Given the description of an element on the screen output the (x, y) to click on. 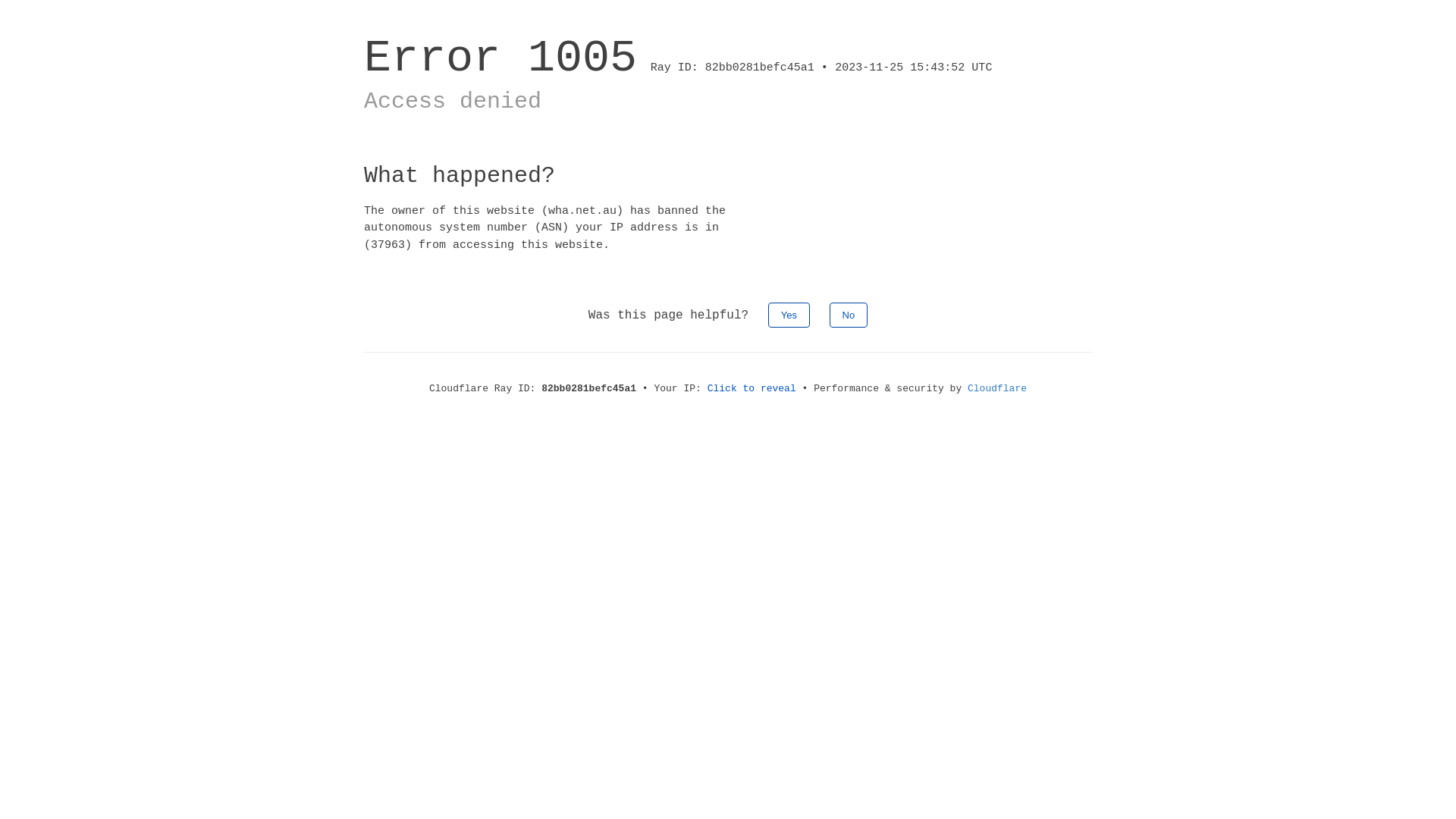
No Element type: text (848, 314)
Click to reveal Element type: text (751, 388)
Cloudflare Element type: text (996, 388)
Yes Element type: text (788, 314)
